Given the description of an element on the screen output the (x, y) to click on. 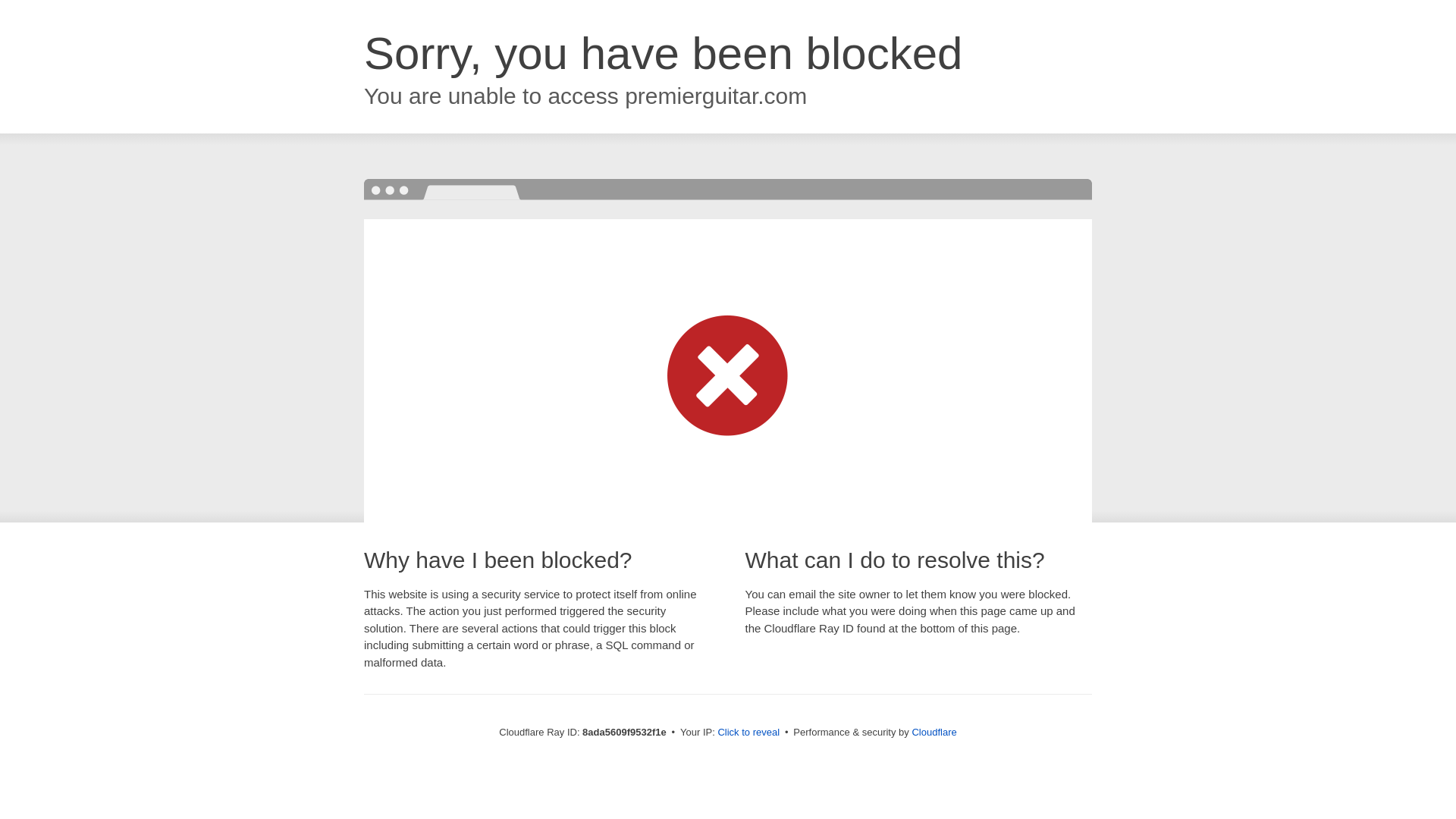
Cloudflare (933, 731)
Click to reveal (747, 732)
